Given the description of an element on the screen output the (x, y) to click on. 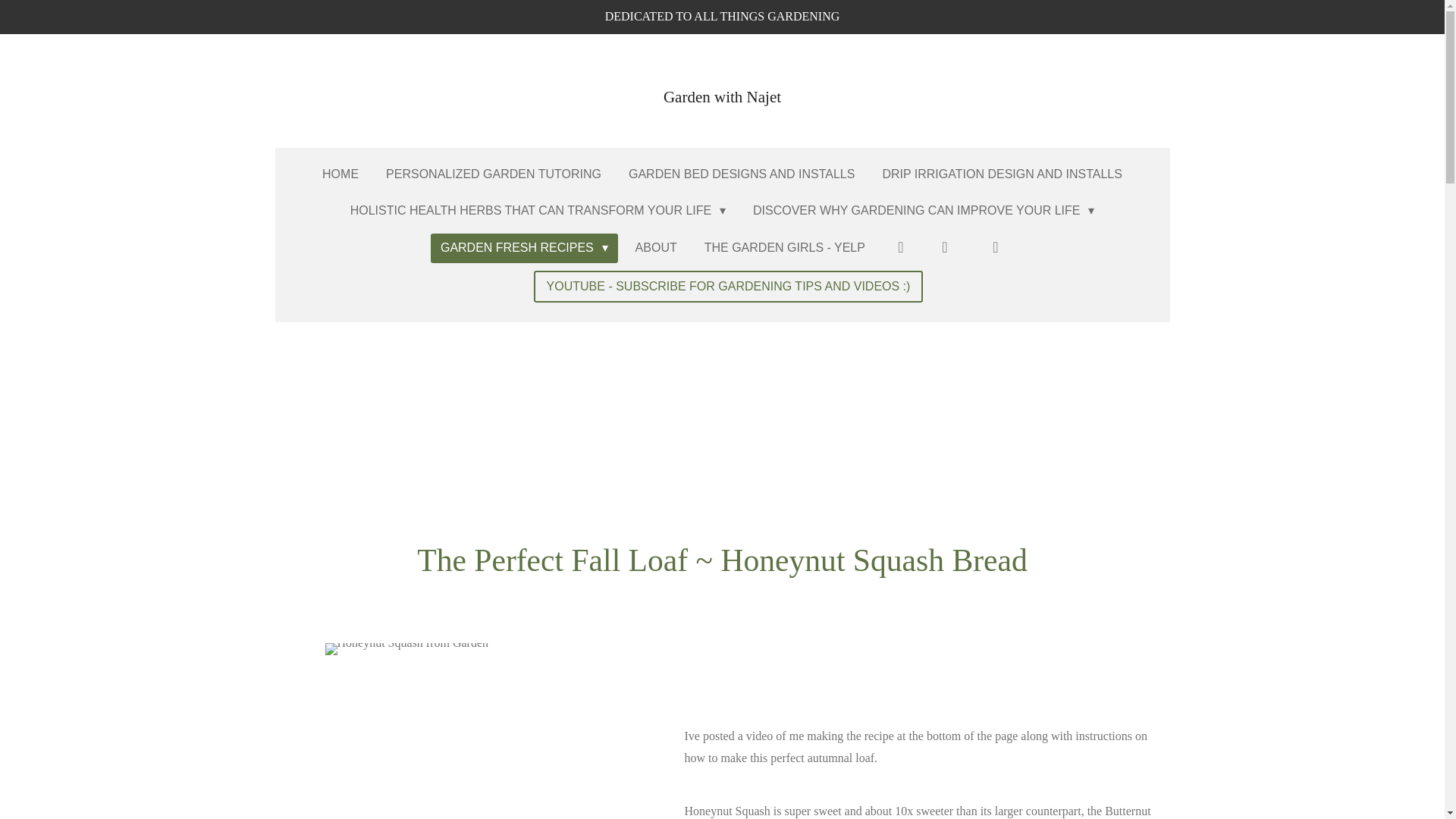
Cart (992, 247)
Garden with Najet (721, 89)
HOME (340, 174)
GARDEN BED DESIGNS AND INSTALLS (741, 174)
Account (900, 247)
GARDEN FRESH RECIPES (523, 247)
DISCOVER WHY GARDENING CAN IMPROVE YOUR LIFE (922, 211)
PERSONALIZED GARDEN TUTORING (493, 174)
HOLISTIC HEALTH HERBS THAT CAN TRANSFORM YOUR LIFE (537, 211)
DRIP IRRIGATION DESIGN AND INSTALLS (1002, 174)
